Given the description of an element on the screen output the (x, y) to click on. 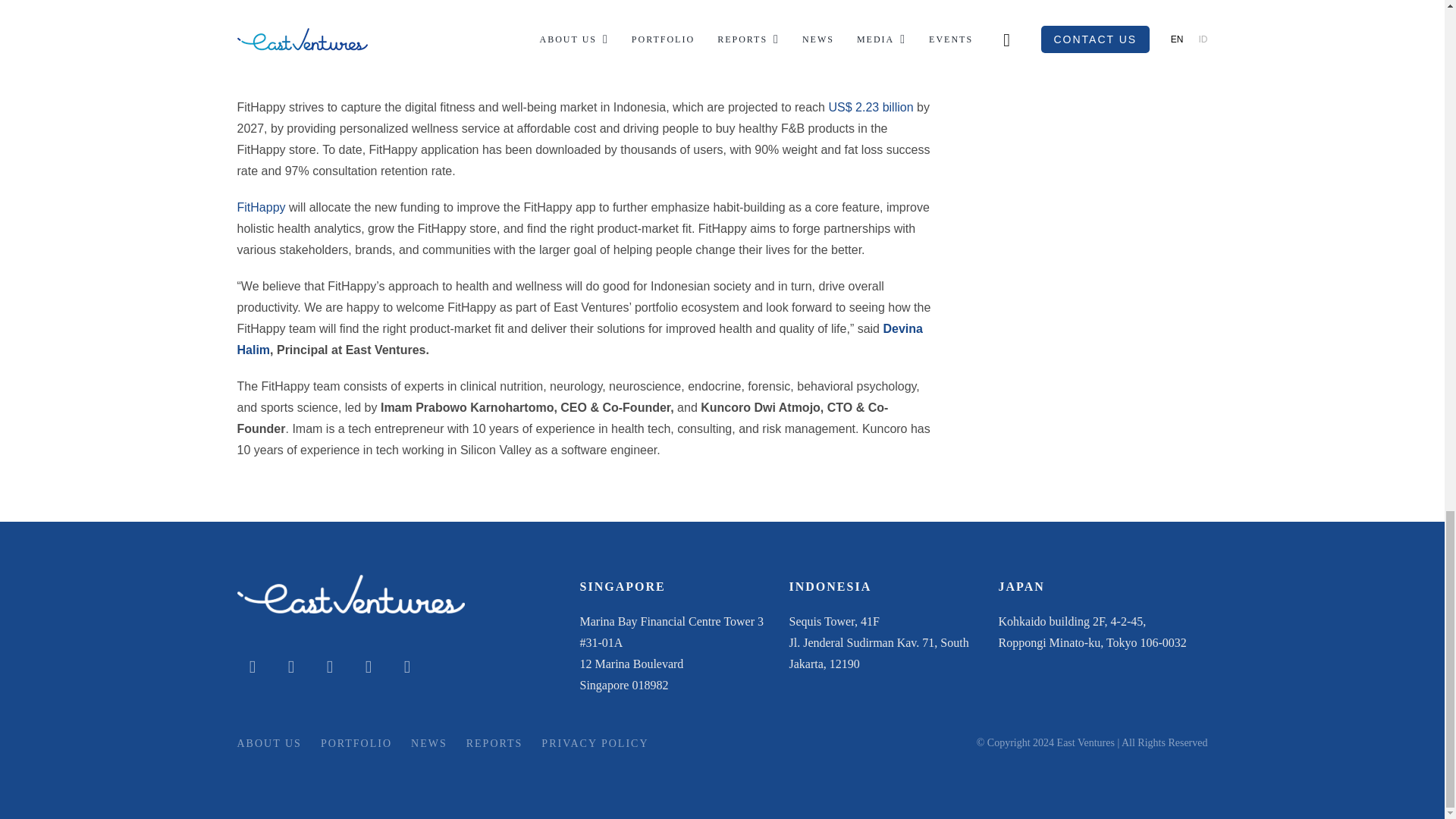
FitHappy (260, 206)
Facebook (368, 666)
Devina Halim (578, 339)
